Given the description of an element on the screen output the (x, y) to click on. 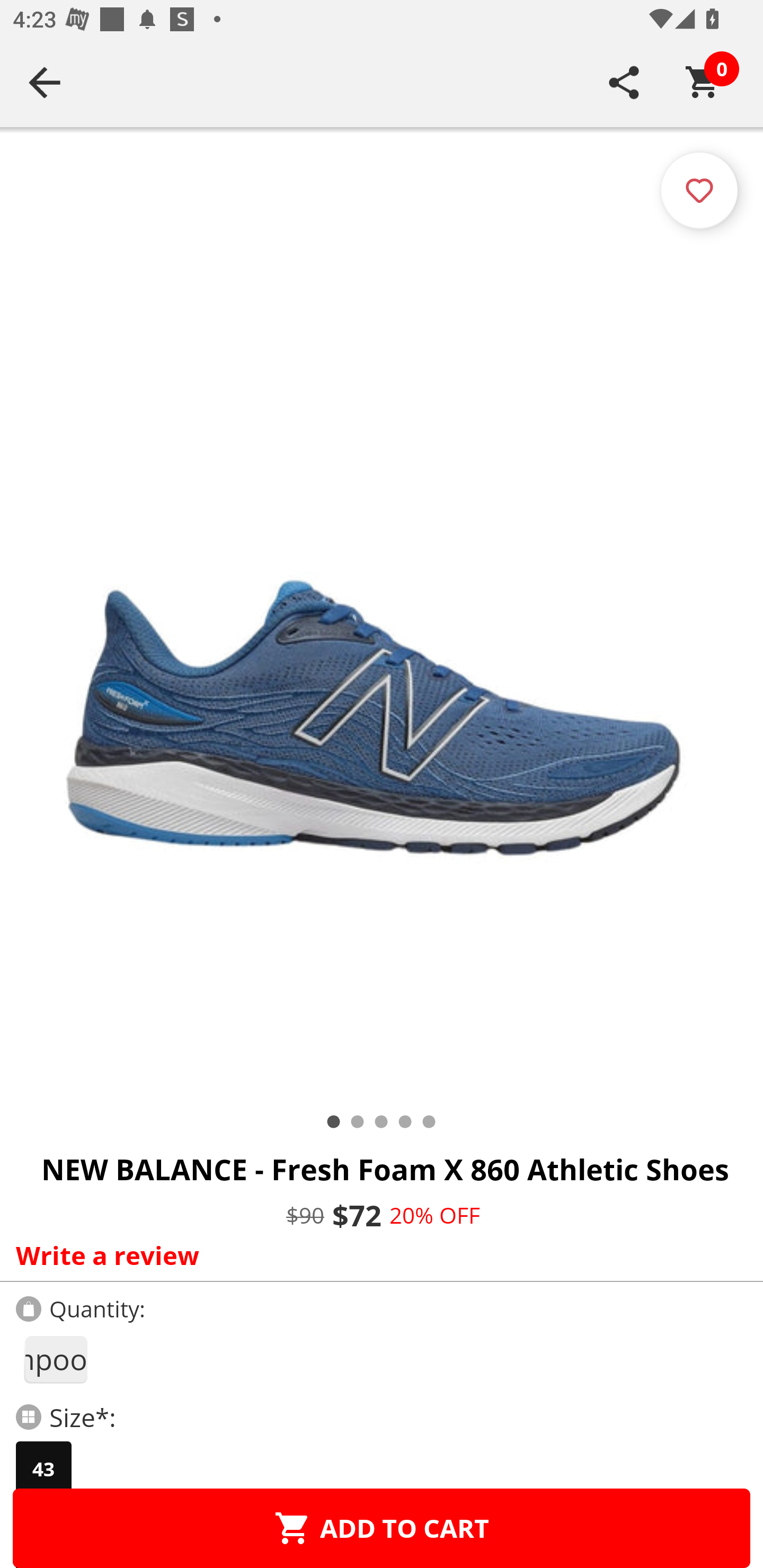
Navigate up (44, 82)
SHARE (623, 82)
Cart (703, 81)
Write a review (377, 1255)
1shampoo (55, 1358)
43 (43, 1468)
ADD TO CART (381, 1528)
